Given the description of an element on the screen output the (x, y) to click on. 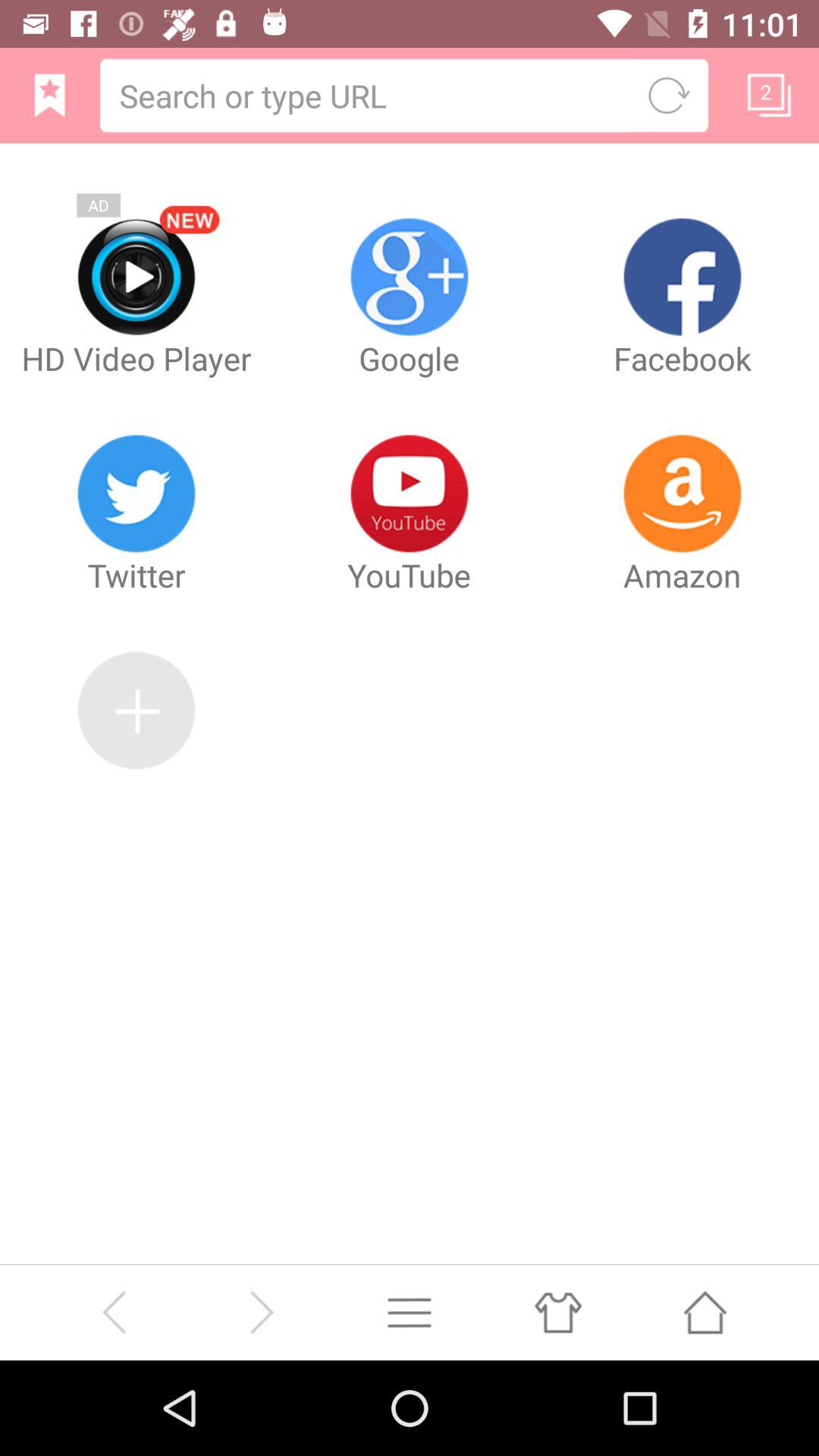
enter url text (369, 95)
